Given the description of an element on the screen output the (x, y) to click on. 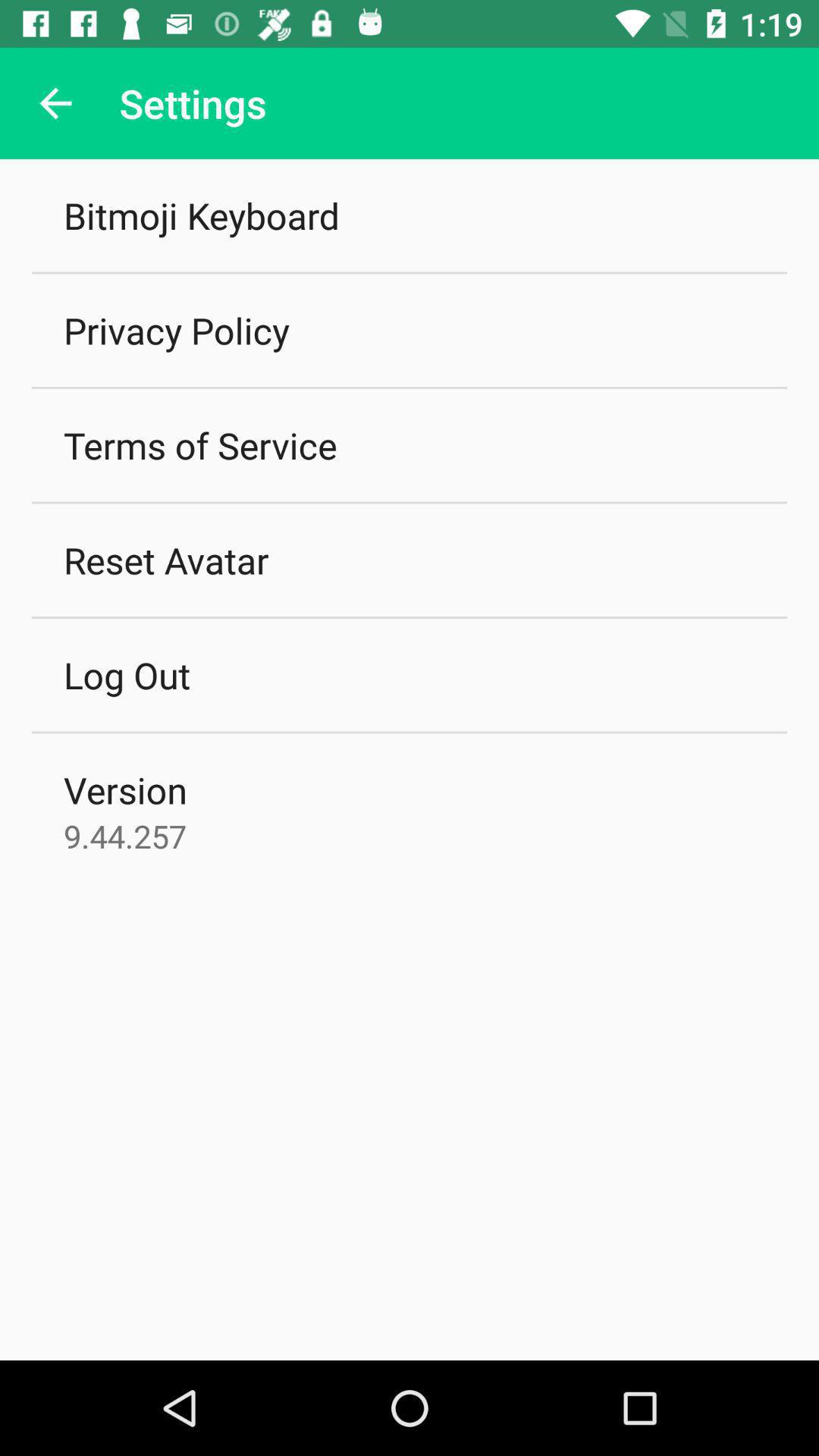
turn on the icon below the version (124, 835)
